Given the description of an element on the screen output the (x, y) to click on. 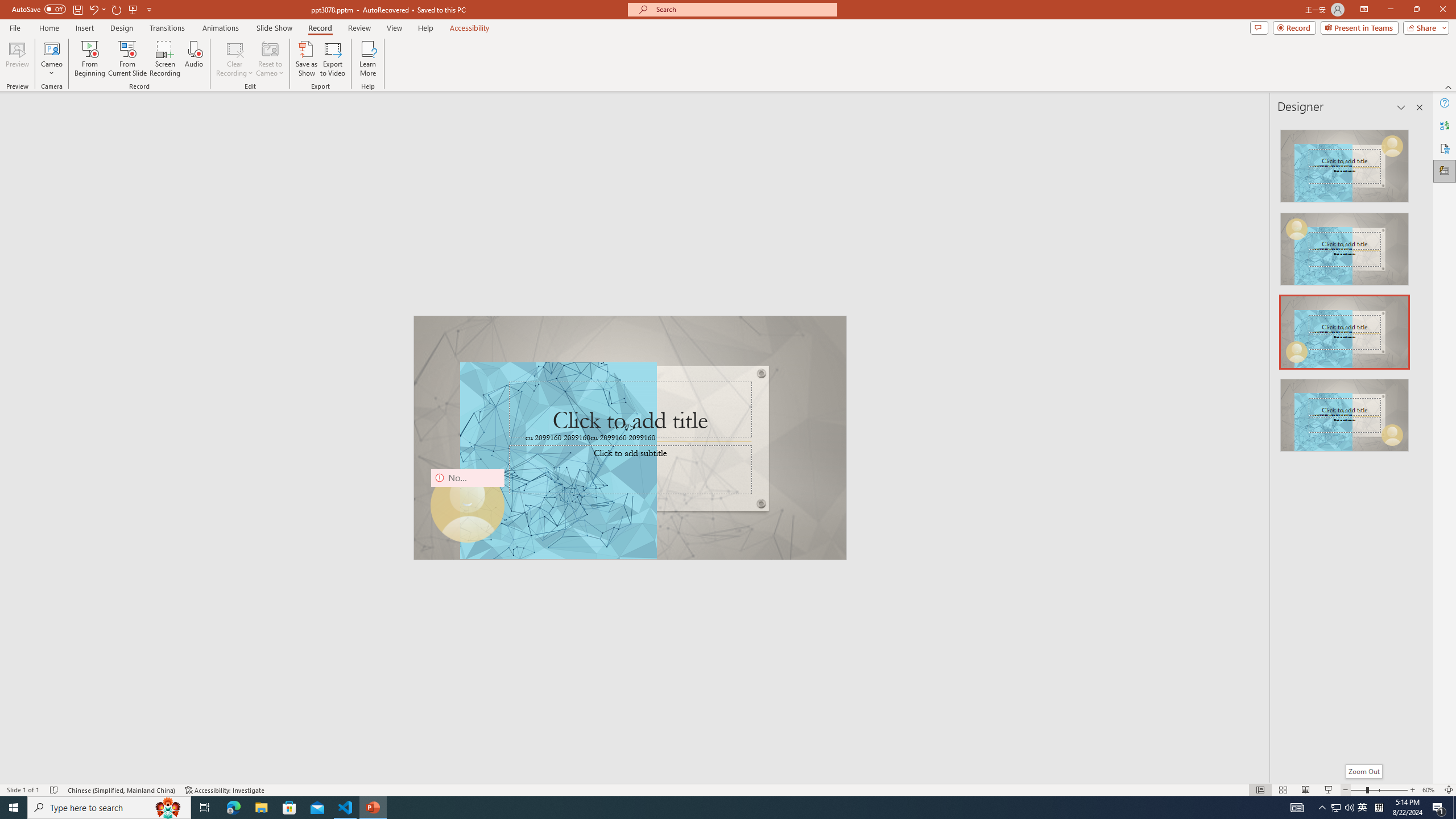
Close pane (1419, 107)
Redo (117, 9)
Customize Quick Access Toolbar (149, 9)
Minimize (1390, 9)
Screen Recording (165, 58)
Zoom In (1412, 790)
Microsoft search (742, 9)
View (395, 28)
Accessibility Checker Accessibility: Investigate (224, 790)
Restore Down (1416, 9)
Class: NetUIImage (1344, 415)
Home (48, 28)
From Beginning (133, 9)
Design (122, 28)
Cameo (51, 58)
